Given the description of an element on the screen output the (x, y) to click on. 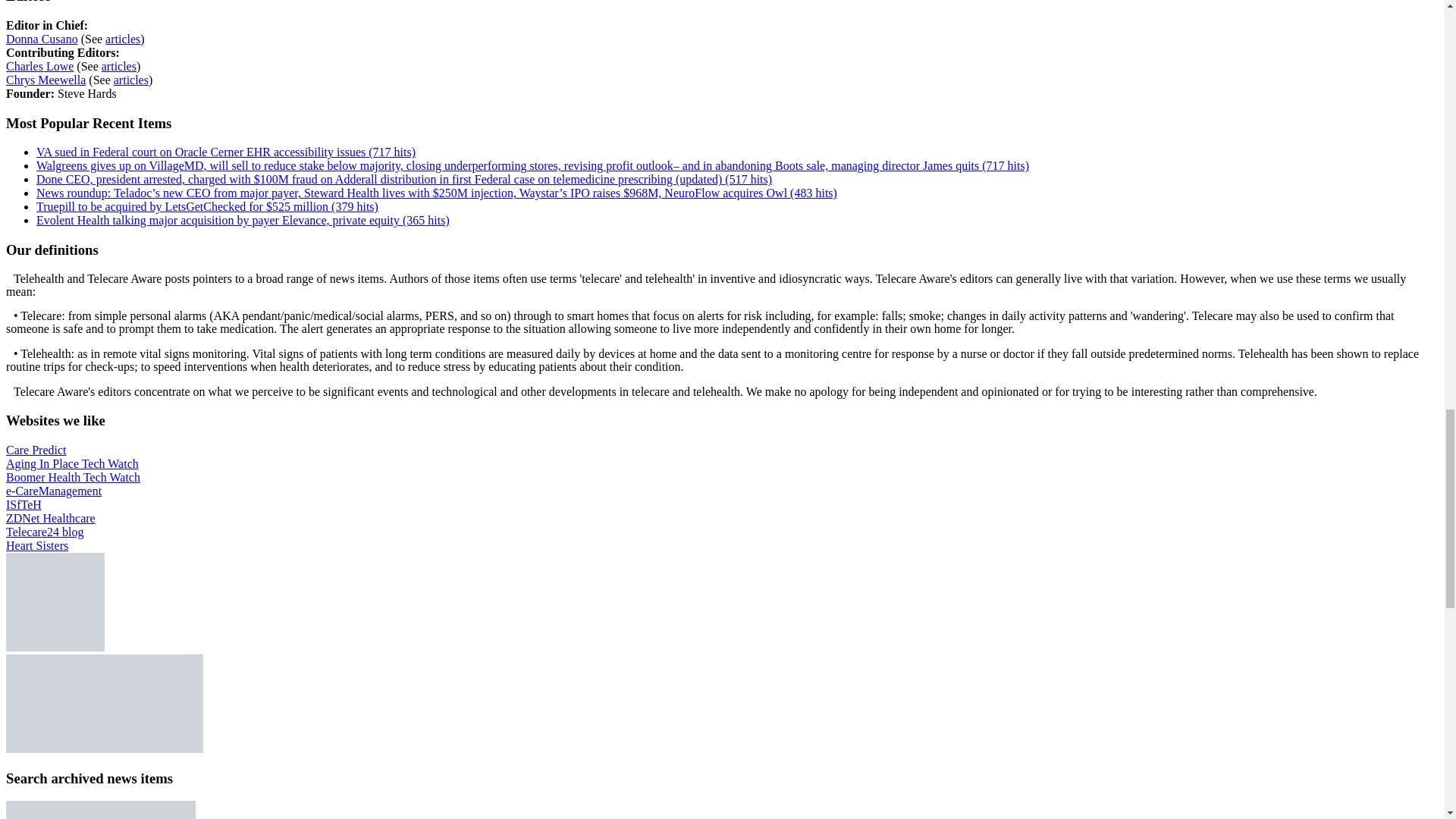
ISfTeH (23, 504)
Heart Sisters (36, 545)
Care Predict (35, 449)
Laurie Orlov's Aging In Place Tech Watch (71, 463)
telecare24 blog (43, 531)
ZDNet Healthcare (50, 517)
Boomer Health Tech Watch (72, 477)
e-CareManagement (53, 490)
